Given the description of an element on the screen output the (x, y) to click on. 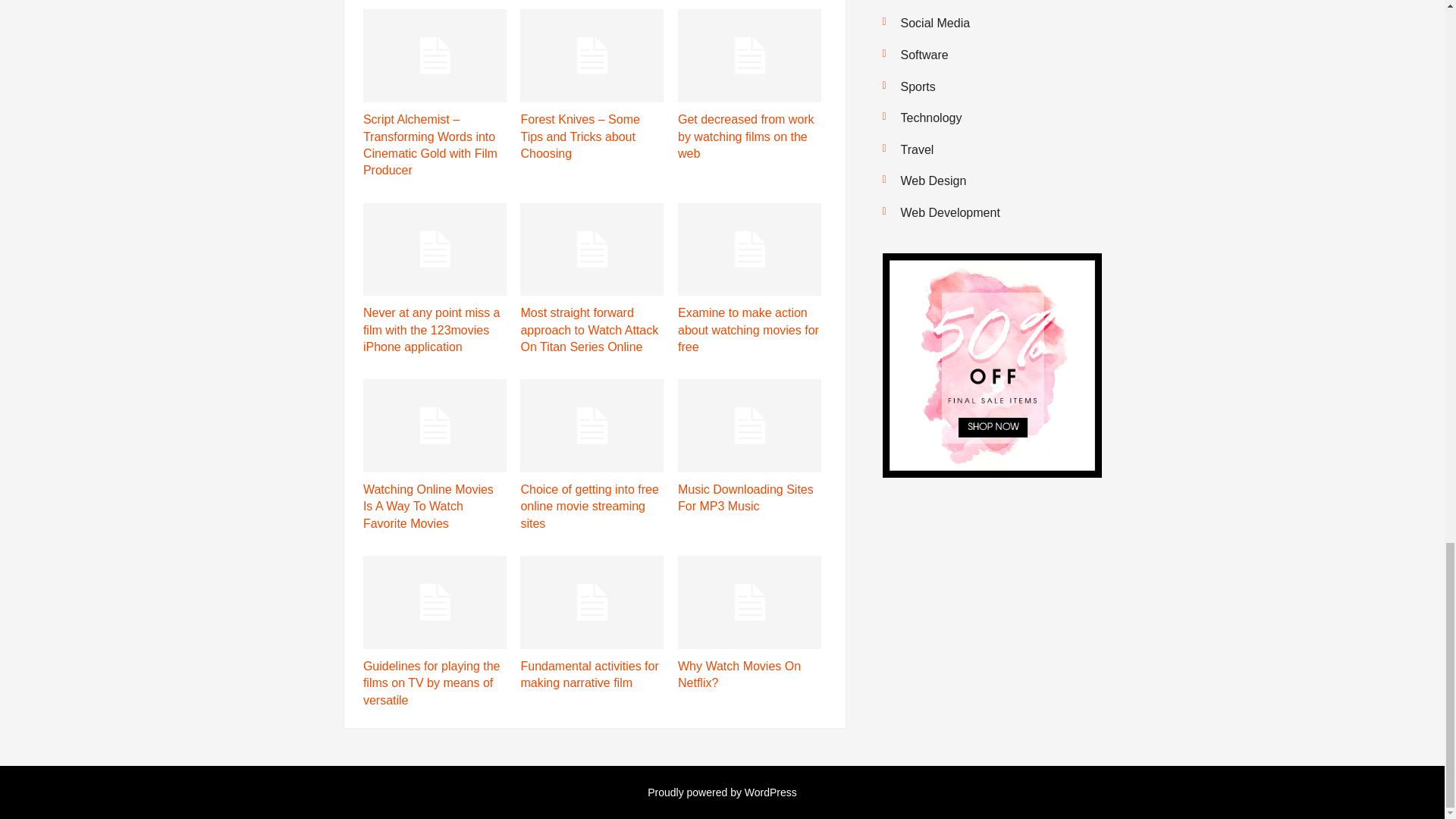
Music Downloading Sites For MP3 Music (745, 497)
Choice of getting into free online movie streaming sites (588, 506)
Watching Online Movies Is A Way To Watch Favorite Movies (427, 506)
Get decreased from work by watching films on the web (745, 136)
Why Watch Movies On Netflix? (739, 674)
Guidelines for playing the films on TV by means of versatile (431, 683)
Examine to make action about watching movies for free (748, 329)
Fundamental activities for making narrative film (588, 674)
